Given the description of an element on the screen output the (x, y) to click on. 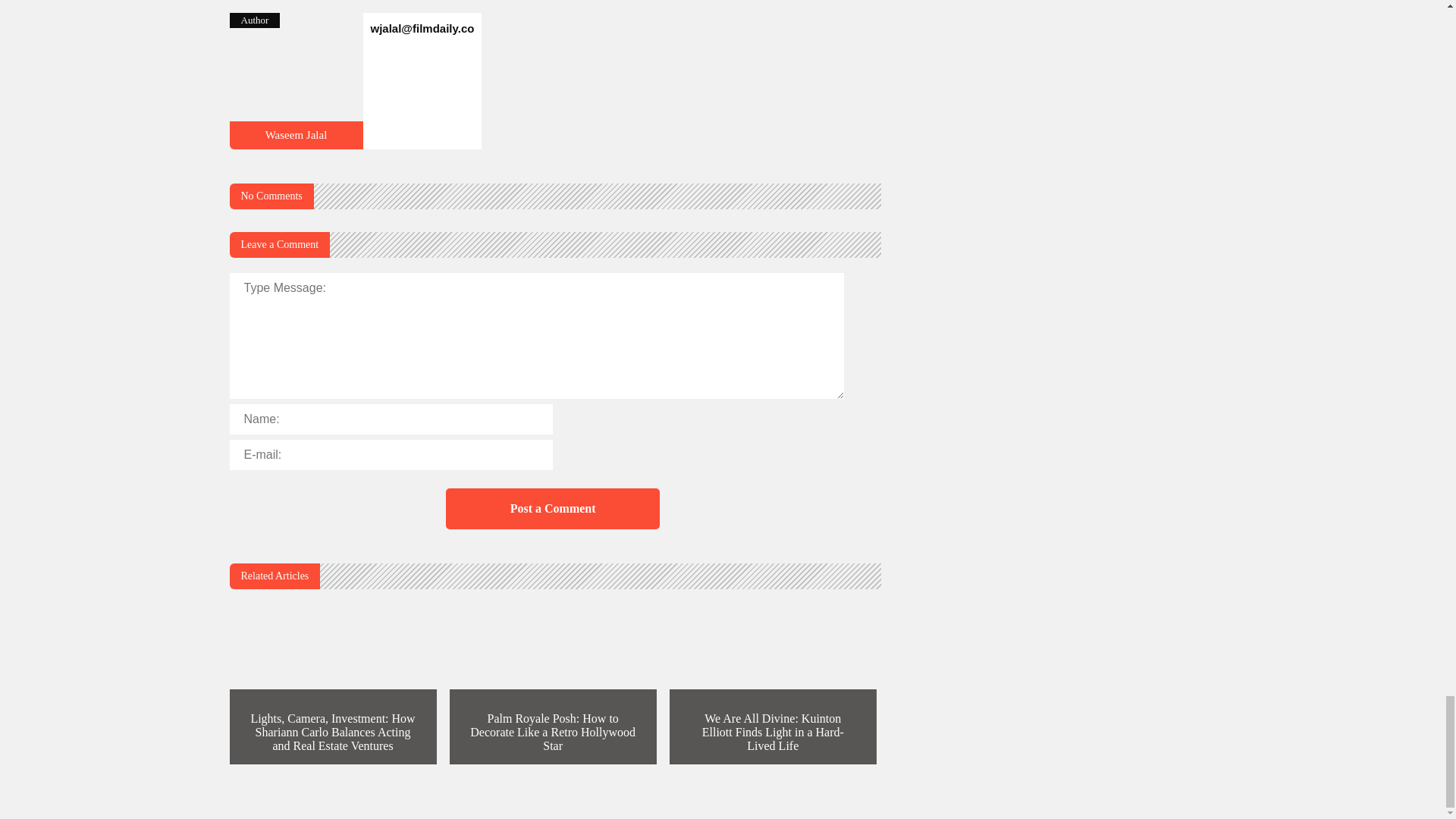
How Long Does it Take to Get a Divorce (295, 142)
Post a Comment (552, 508)
How Long Does it Take to Get a Divorce (295, 134)
